Given the description of an element on the screen output the (x, y) to click on. 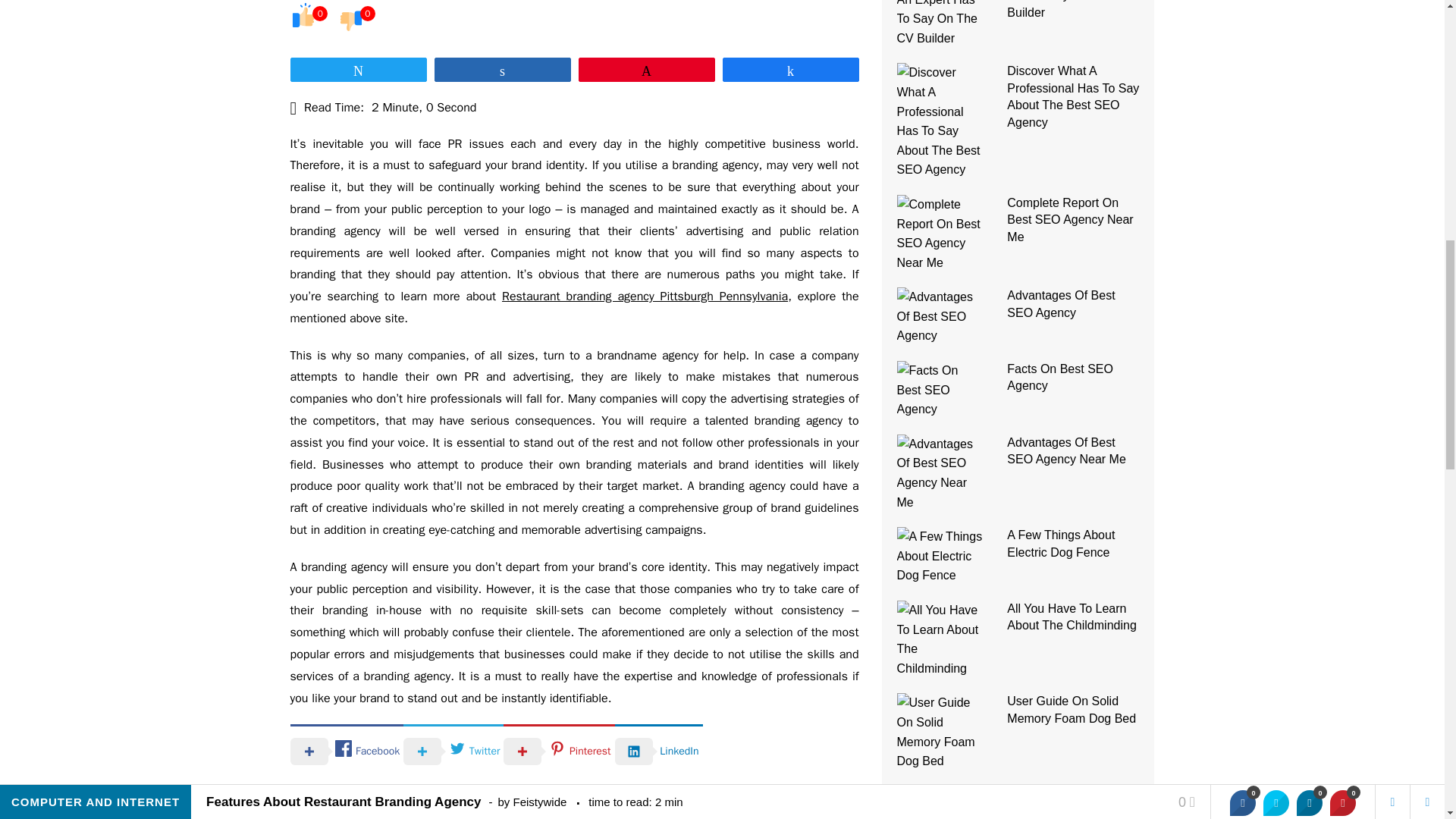
Pinterest (558, 749)
Facebook (346, 749)
Twitter (453, 749)
Restaurant branding agency Pittsburgh Pennsylvania (644, 296)
LinkedIn (658, 749)
